Given the description of an element on the screen output the (x, y) to click on. 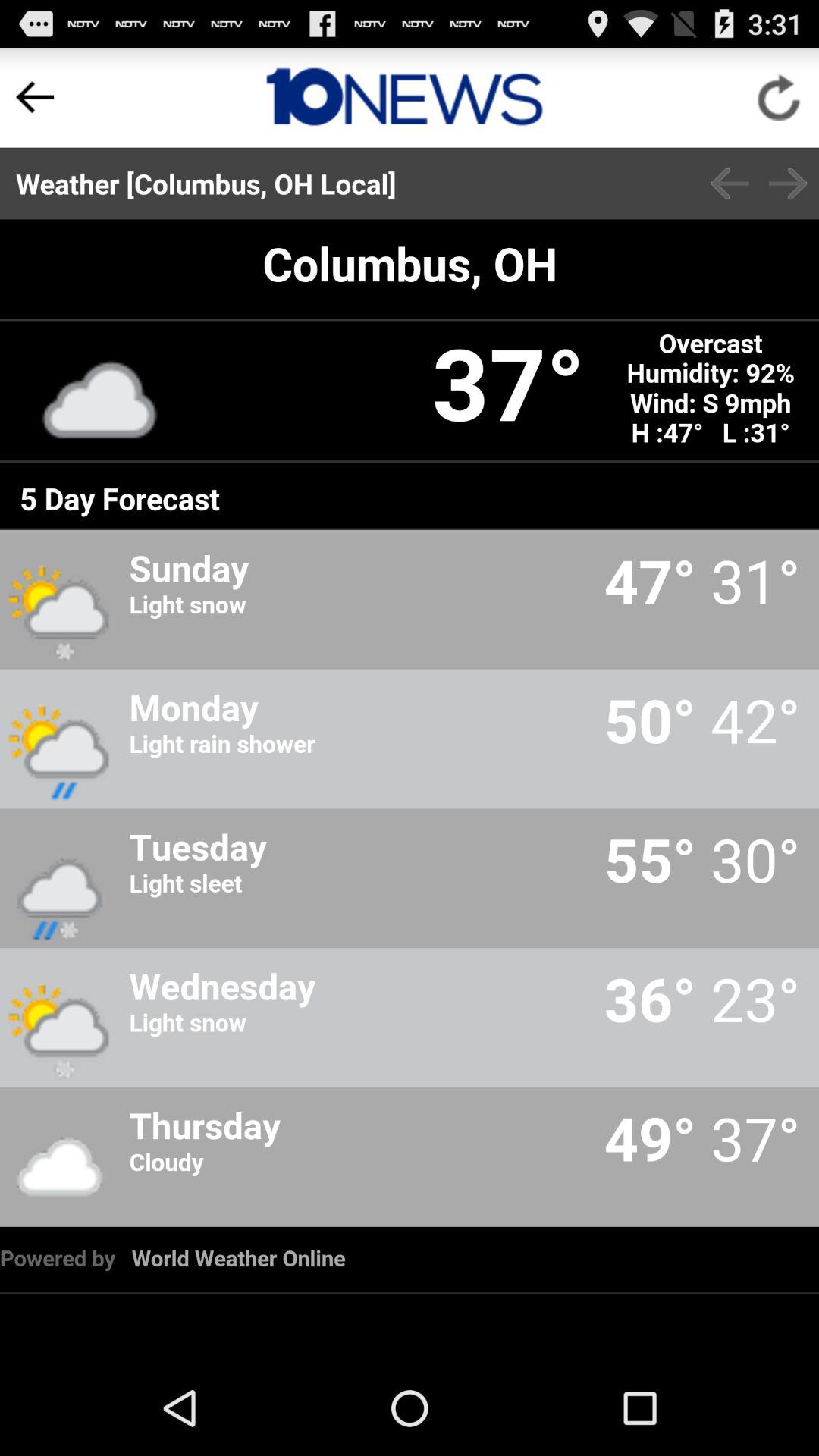
go to previous (34, 97)
